Given the description of an element on the screen output the (x, y) to click on. 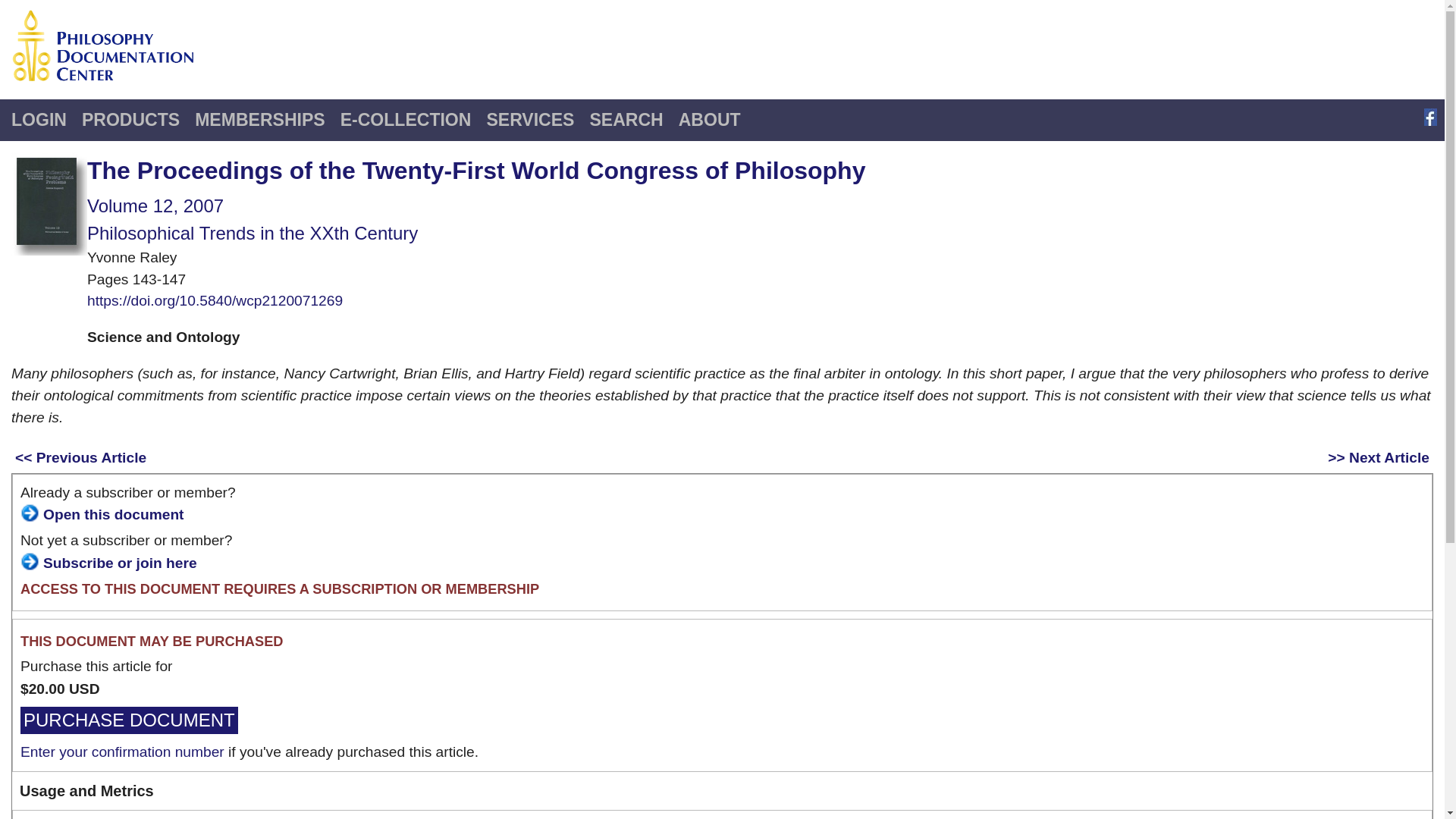
ABOUT (709, 119)
MEMBERSHIPS (259, 119)
SERVICES (529, 119)
E-COLLECTION (406, 119)
LOGIN (39, 119)
PRODUCTS (130, 119)
PURCHASE DOCUMENT (129, 719)
SEARCH (624, 119)
